Given the description of an element on the screen output the (x, y) to click on. 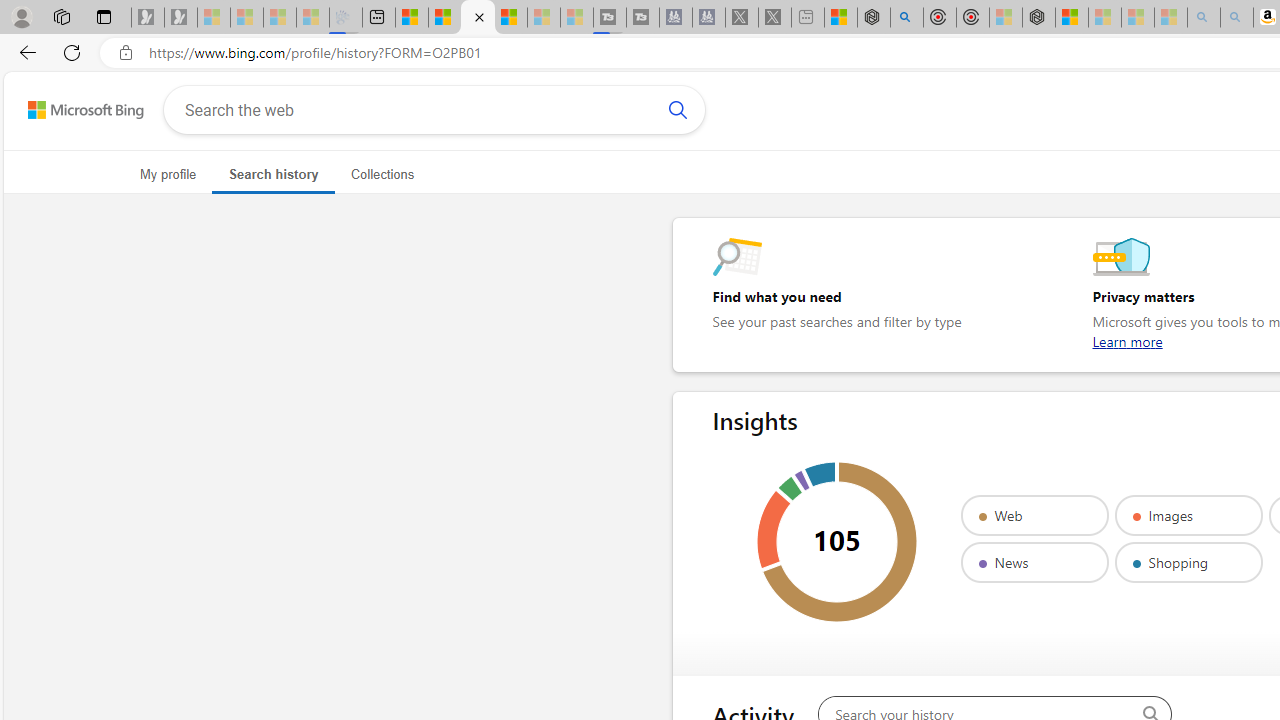
Nordace - Nordace Siena Is Not An Ordinary Backpack (1038, 17)
Images (1188, 515)
Nordace - Summer Adventures 2024 (873, 17)
Tab actions menu (104, 16)
Wildlife - MSN (841, 17)
Streaming Coverage | T3 - Sleeping (609, 17)
Workspaces (61, 16)
Search - Search History (478, 17)
Newsletter Sign Up - Sleeping (181, 17)
Back (24, 52)
